Given the description of an element on the screen output the (x, y) to click on. 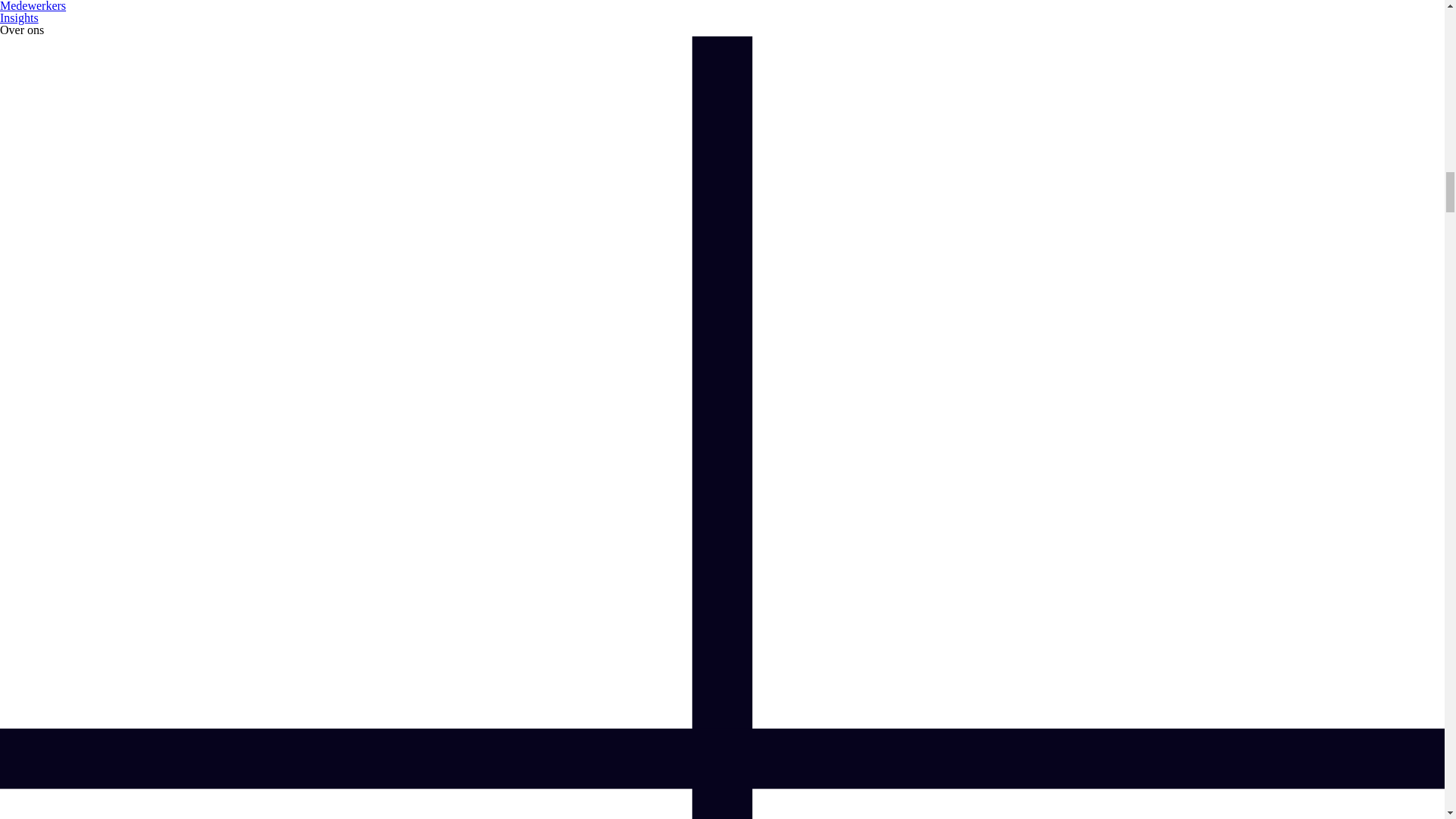
Insights (19, 17)
Medewerkers (32, 6)
